Given the description of an element on the screen output the (x, y) to click on. 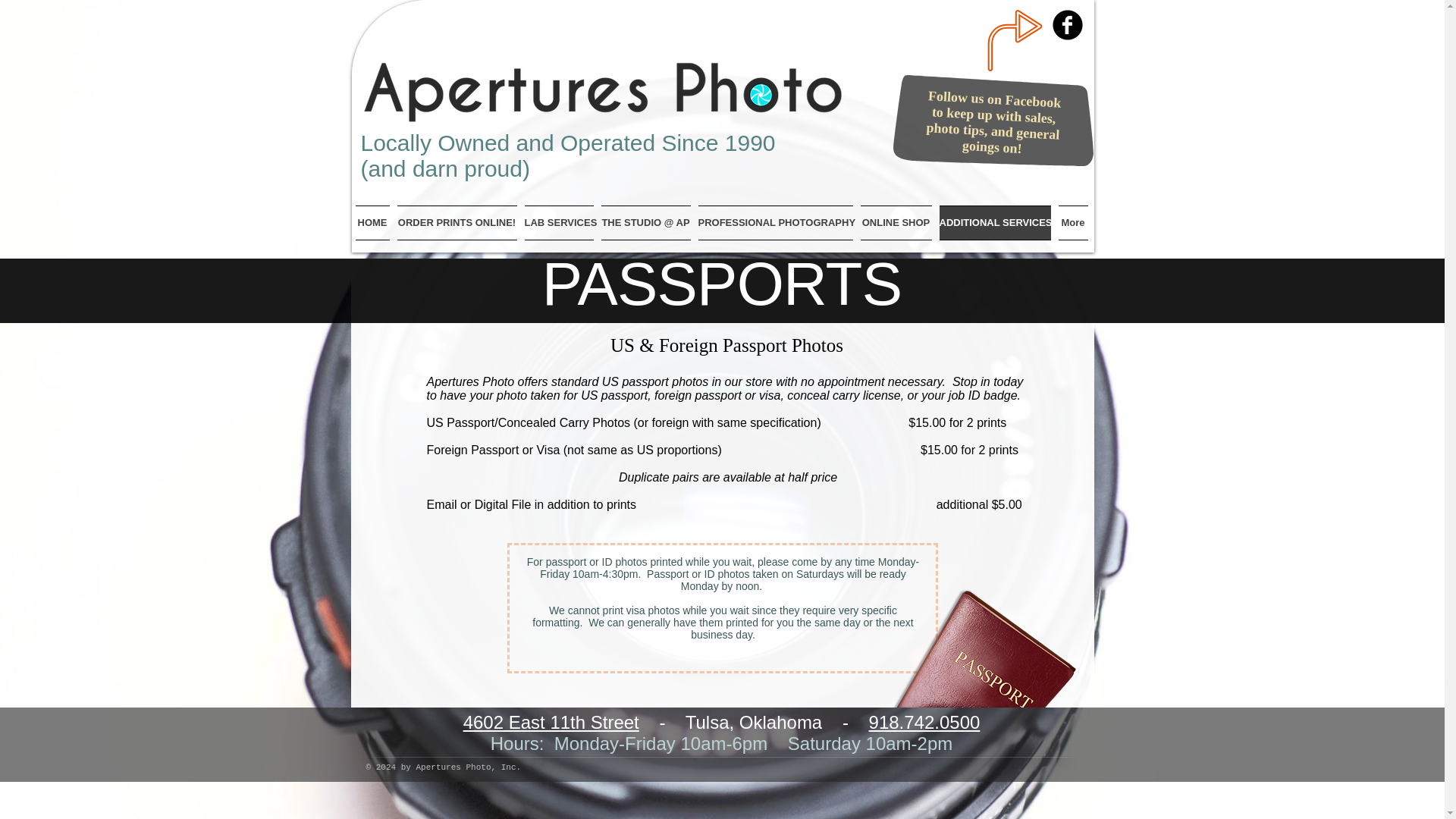
4602 East 11th Street (551, 721)
ADDITIONAL SERVICES (995, 222)
HOME (374, 222)
LAB SERVICES (557, 222)
ONLINE SHOP (896, 222)
PROFESSIONAL PHOTOGRAPHY (775, 222)
918.742.0500 (924, 721)
ORDER PRINTS ONLINE! (456, 222)
